Given the description of an element on the screen output the (x, y) to click on. 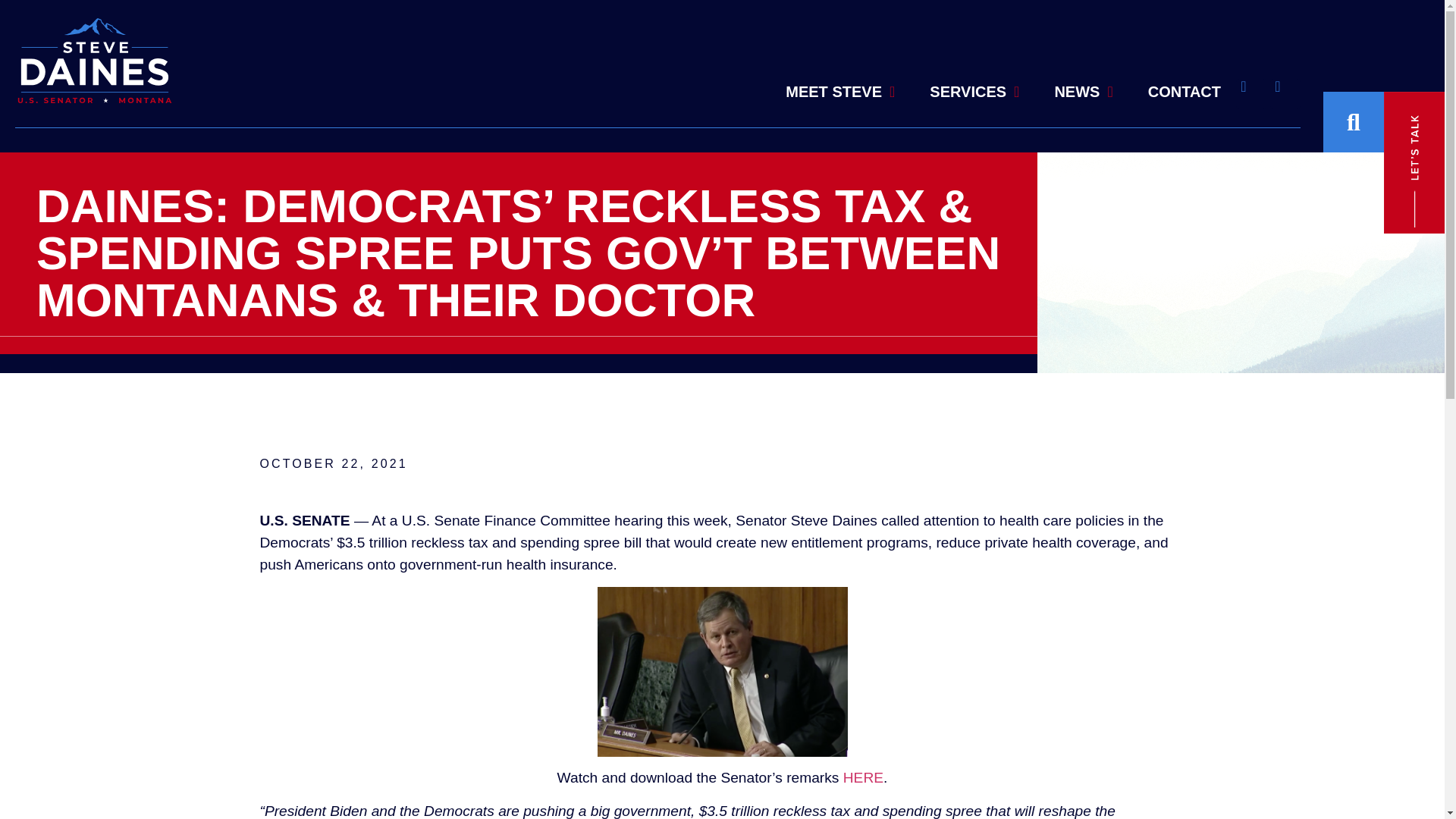
CONTACT (1184, 90)
SERVICES (973, 71)
MEET STEVE (840, 61)
NEWS (1082, 89)
Finance (721, 671)
